Given the description of an element on the screen output the (x, y) to click on. 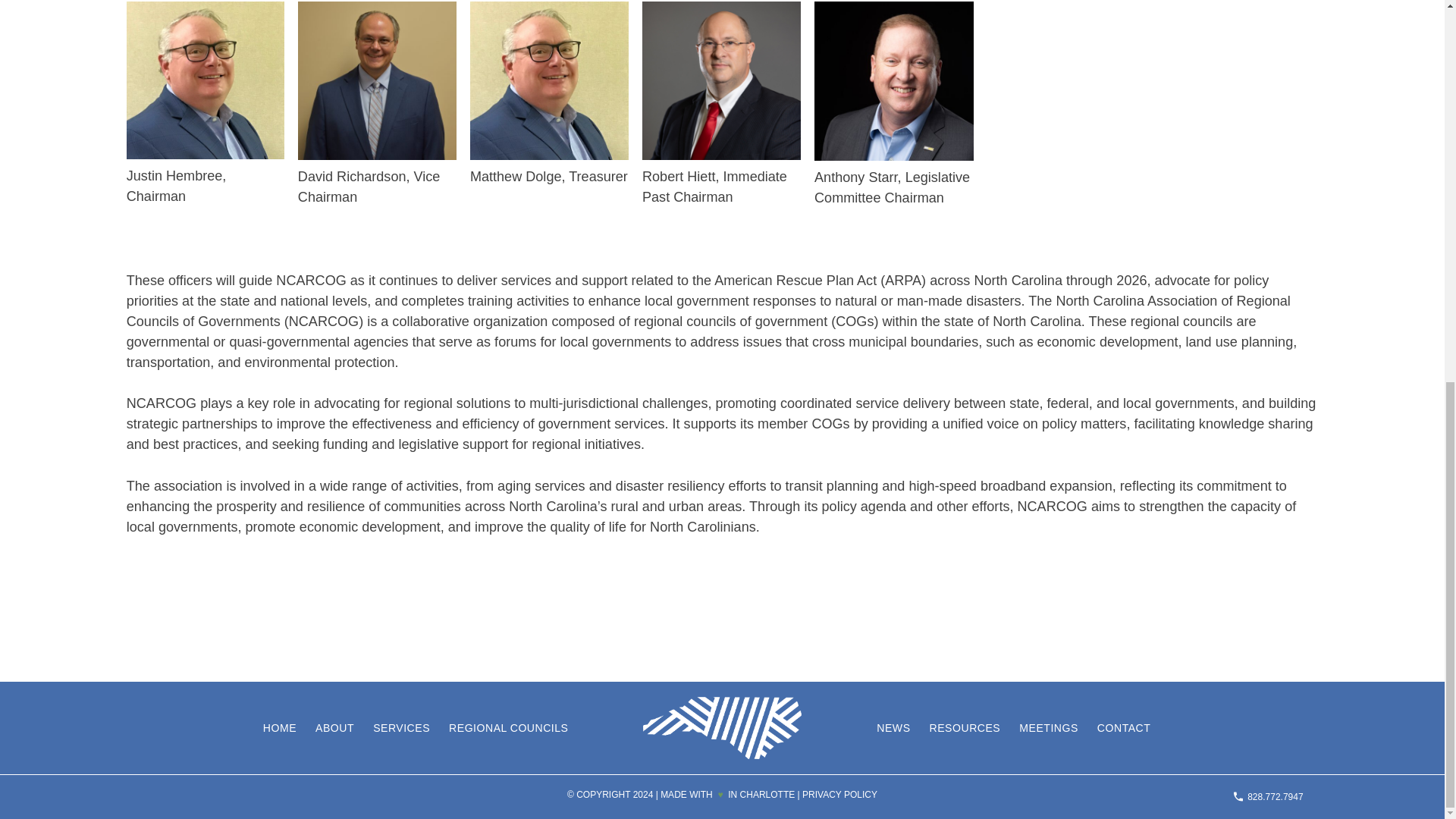
CONTACT (1124, 727)
SERVICES (400, 727)
PRIVACY POLICY (839, 794)
MEETINGS (1048, 727)
ABOUT (334, 727)
RESOURCES (965, 727)
828.772.7947 (1268, 796)
REGIONAL COUNCILS (507, 727)
828.772.7947 (1268, 796)
HOME (280, 727)
NEWS (893, 727)
